Given the description of an element on the screen output the (x, y) to click on. 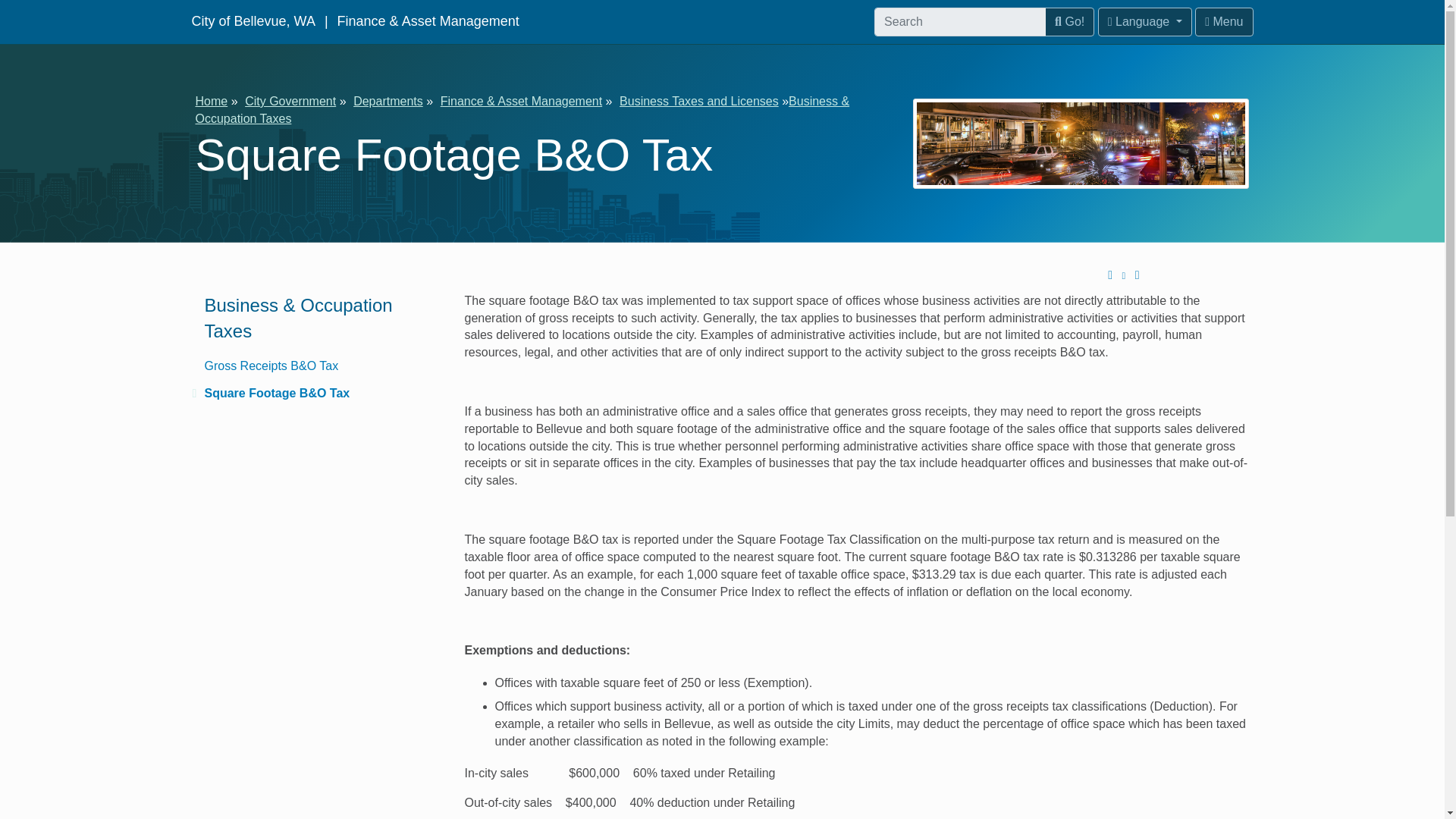
Share to Linkedin (1196, 274)
Share to X (1172, 274)
Decrease Text Size (1123, 275)
Increase Text Size (1110, 274)
Share to Email (1218, 274)
Share to Facebook (1149, 274)
Search (1069, 21)
Type search term (960, 21)
